Given the description of an element on the screen output the (x, y) to click on. 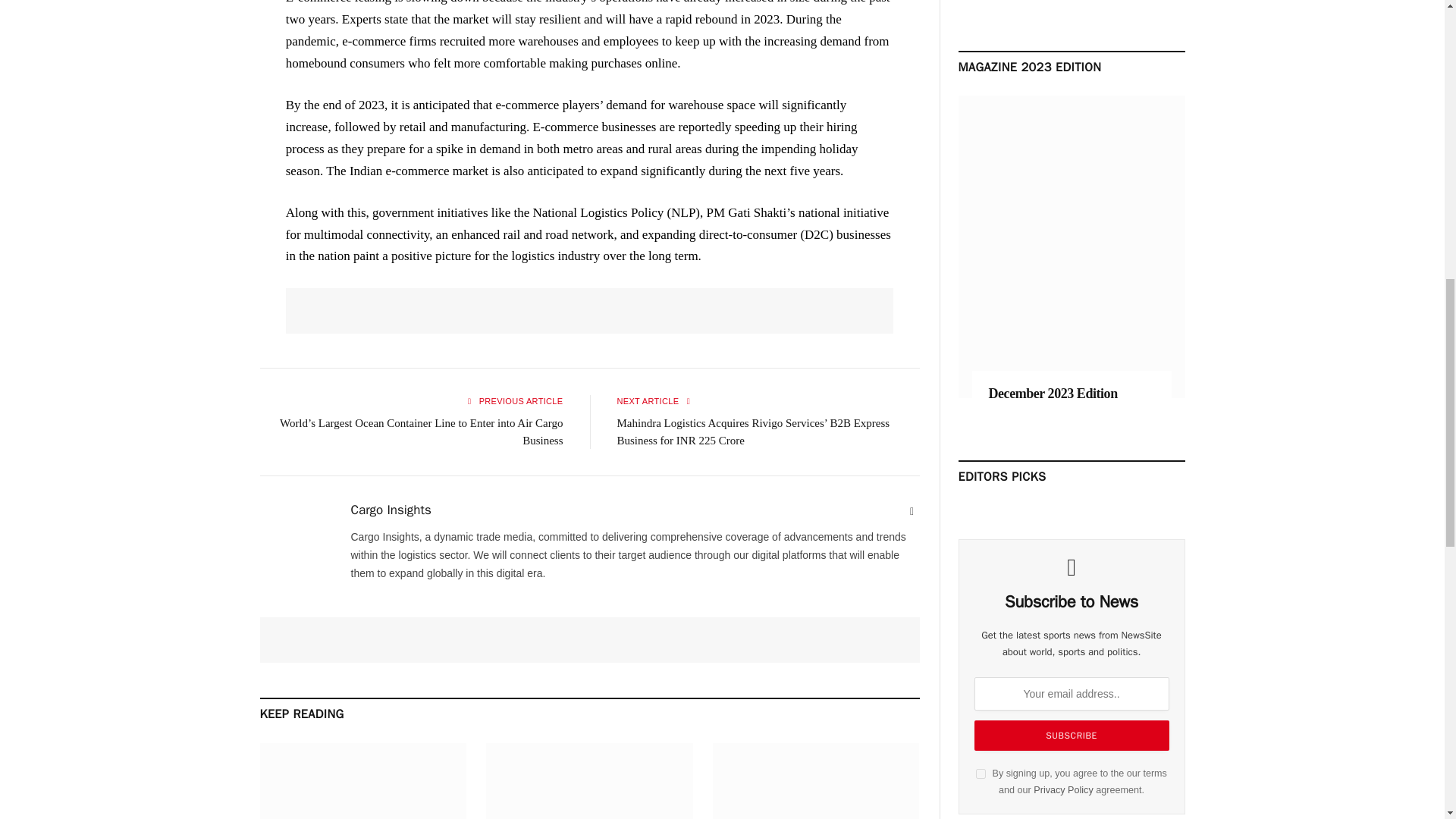
Subscribe (1071, 735)
on (980, 773)
